Given the description of an element on the screen output the (x, y) to click on. 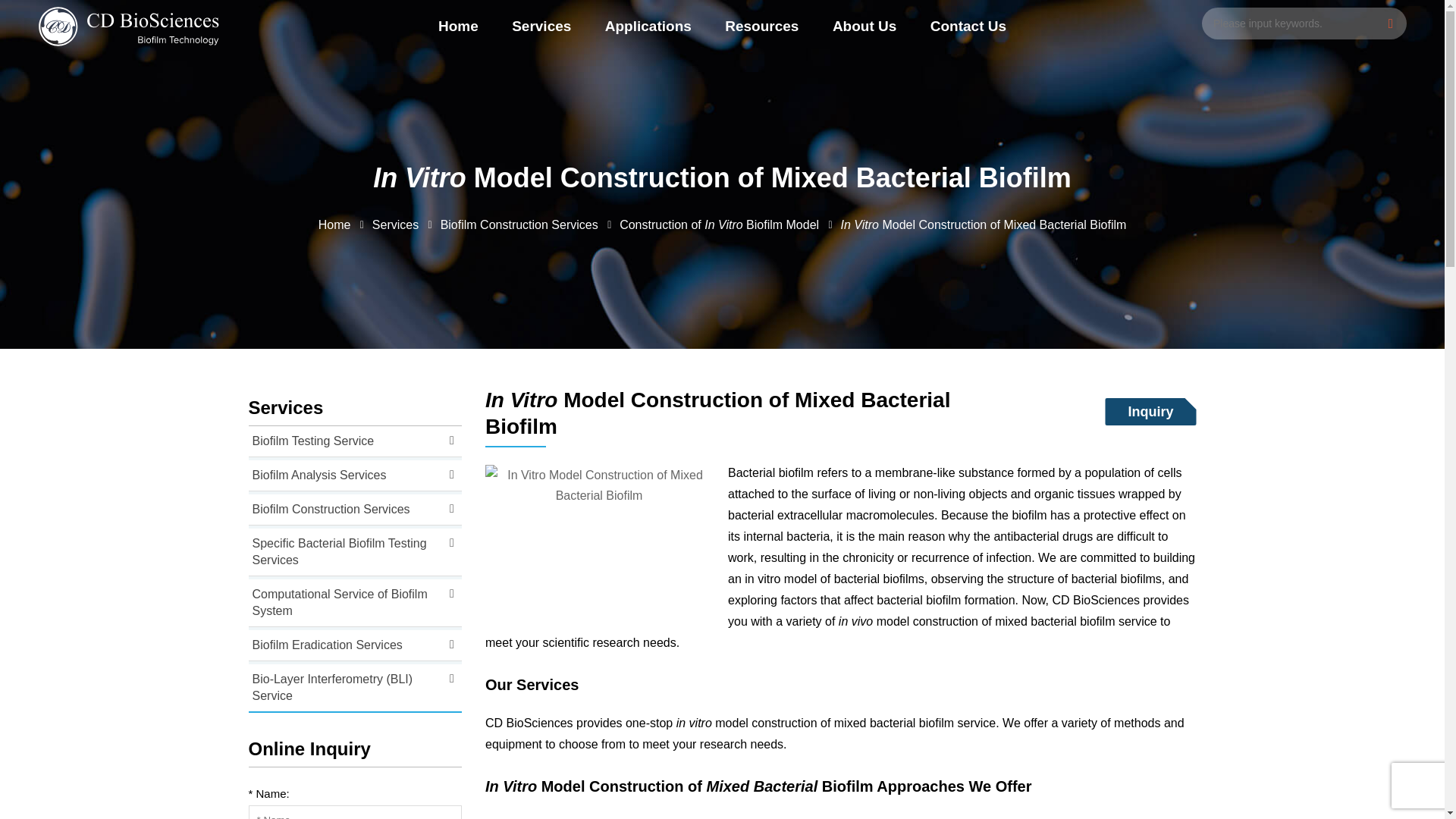
Services (541, 26)
Home (458, 26)
